Given the description of an element on the screen output the (x, y) to click on. 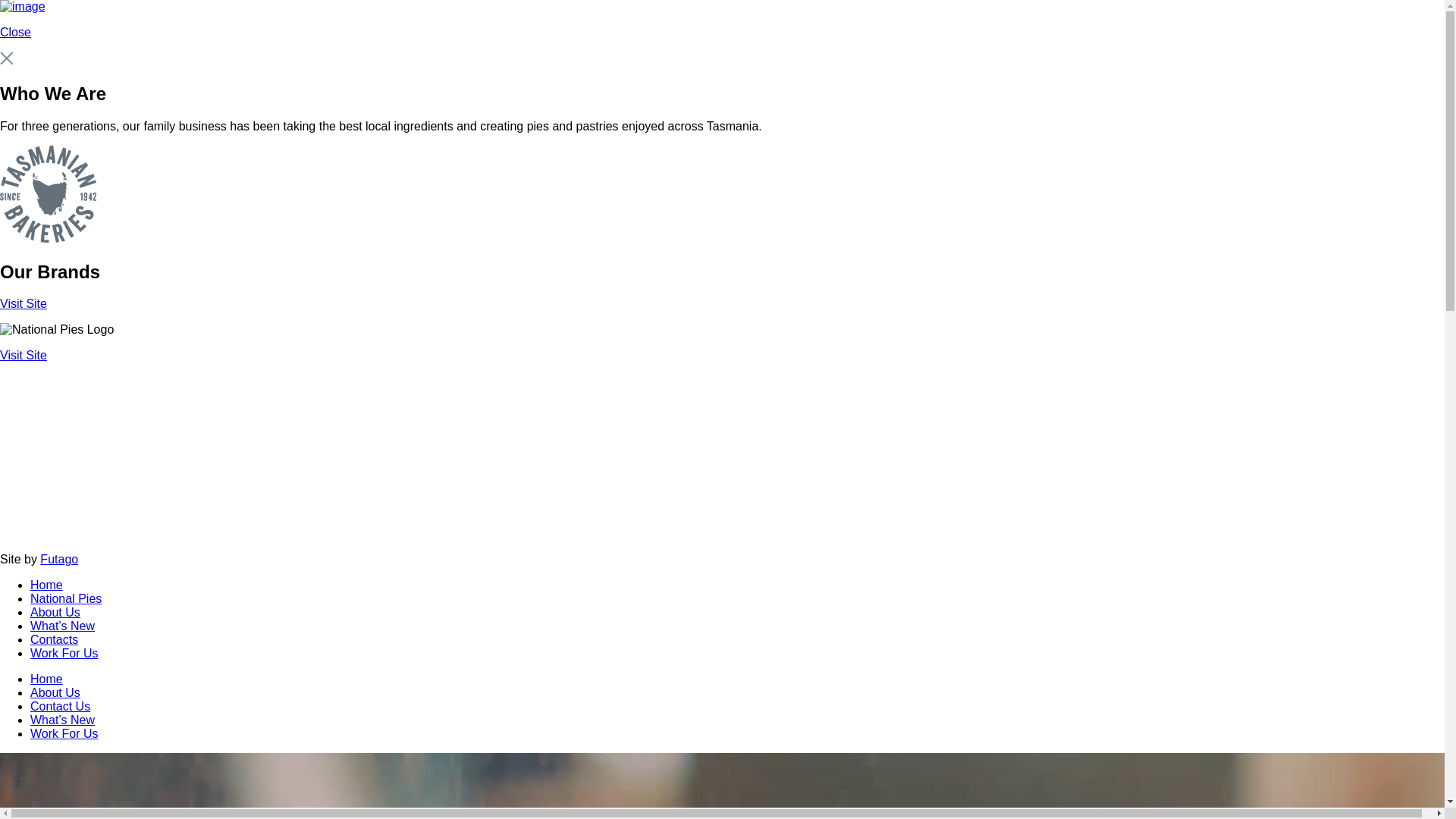
About Us Element type: text (55, 692)
Home Element type: text (46, 584)
Visit Site Element type: text (722, 450)
Work For Us Element type: text (63, 652)
Home Element type: text (46, 678)
Work For Us Element type: text (63, 733)
About Us Element type: text (55, 611)
National Pies Element type: text (65, 598)
Contacts Element type: text (54, 639)
Futago Element type: text (59, 558)
Contact Us Element type: text (60, 705)
Visit Site Element type: text (722, 316)
Close Element type: text (722, 32)
